Given the description of an element on the screen output the (x, y) to click on. 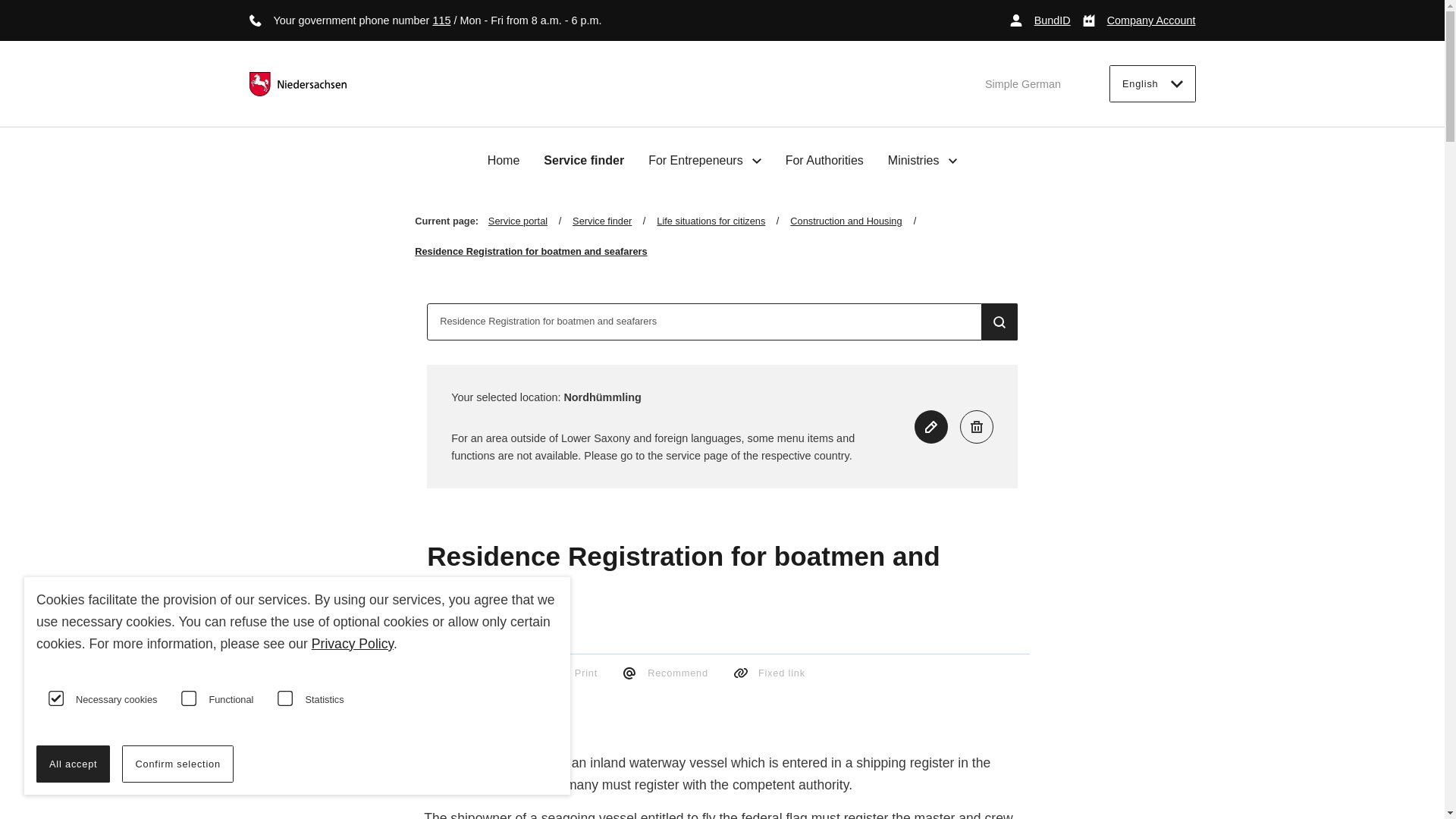
webReader menu (434, 701)
Confirm selection (177, 763)
Company Account (1139, 20)
Privacy Policy (352, 642)
BundID (1040, 20)
Delete location entry (975, 426)
Simple German (1023, 83)
Home (503, 160)
For Entrepeneurs (704, 160)
115 (440, 20)
Company Account (1139, 20)
Renew input (930, 426)
Service finder (614, 221)
For Authorities (824, 160)
Service finder (583, 160)
